Given the description of an element on the screen output the (x, y) to click on. 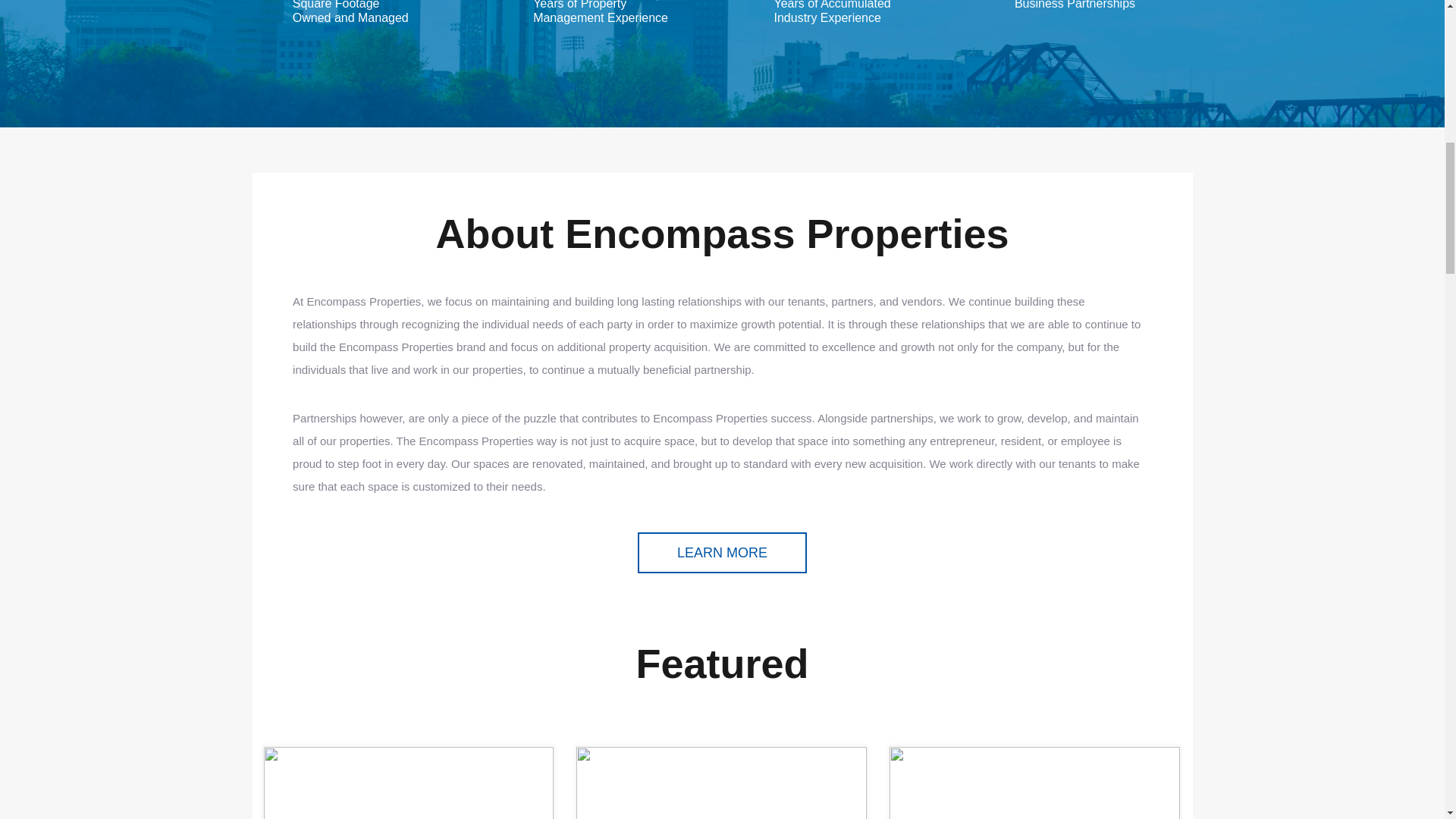
LEARN MORE (721, 552)
